Given the description of an element on the screen output the (x, y) to click on. 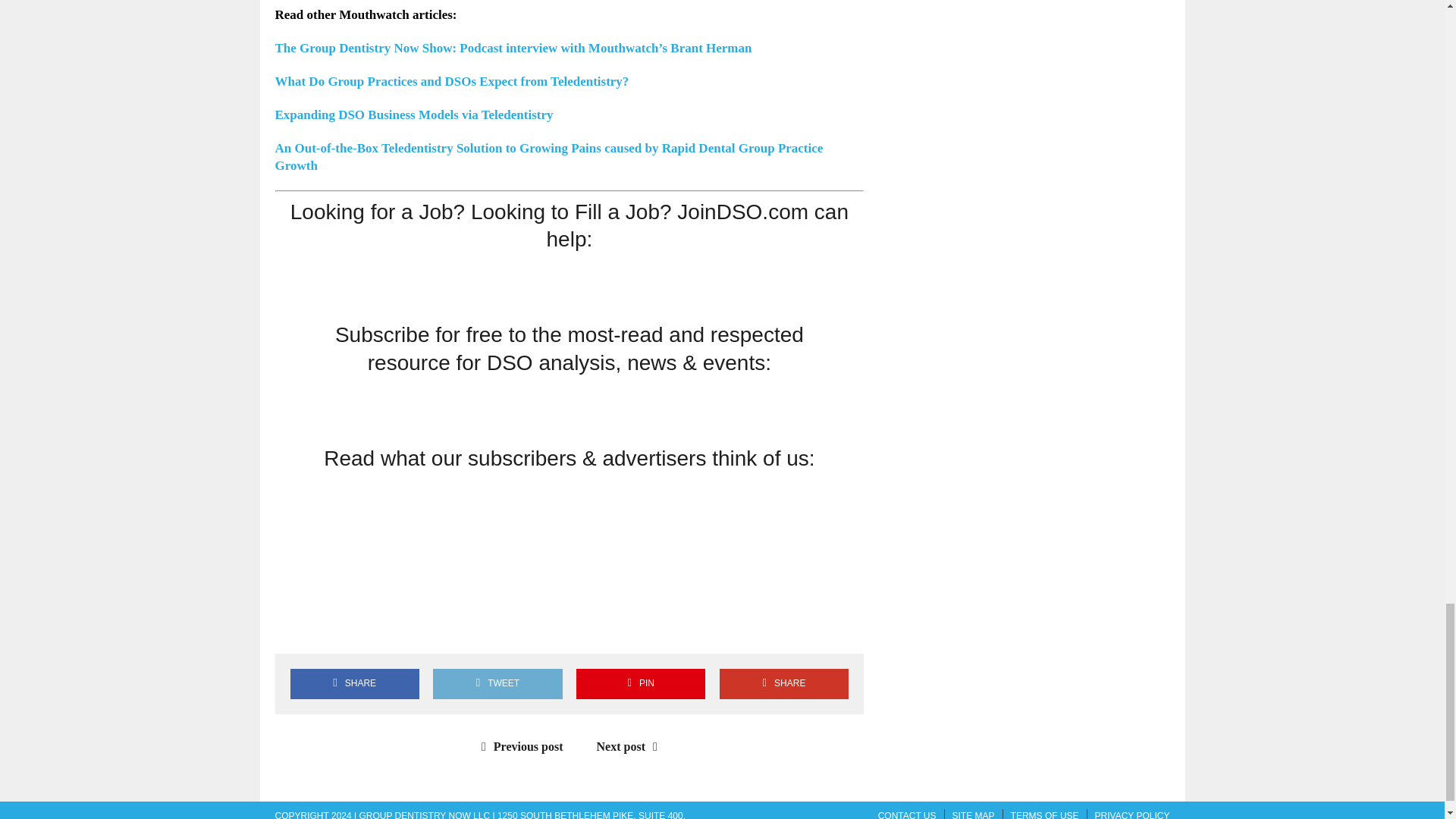
Share on Facebook (293, 627)
Share on Twitter (336, 627)
Tweet This Post (497, 683)
Share by email (424, 627)
Share on Facebook (354, 683)
Share on Linkedin (380, 627)
